Given the description of an element on the screen output the (x, y) to click on. 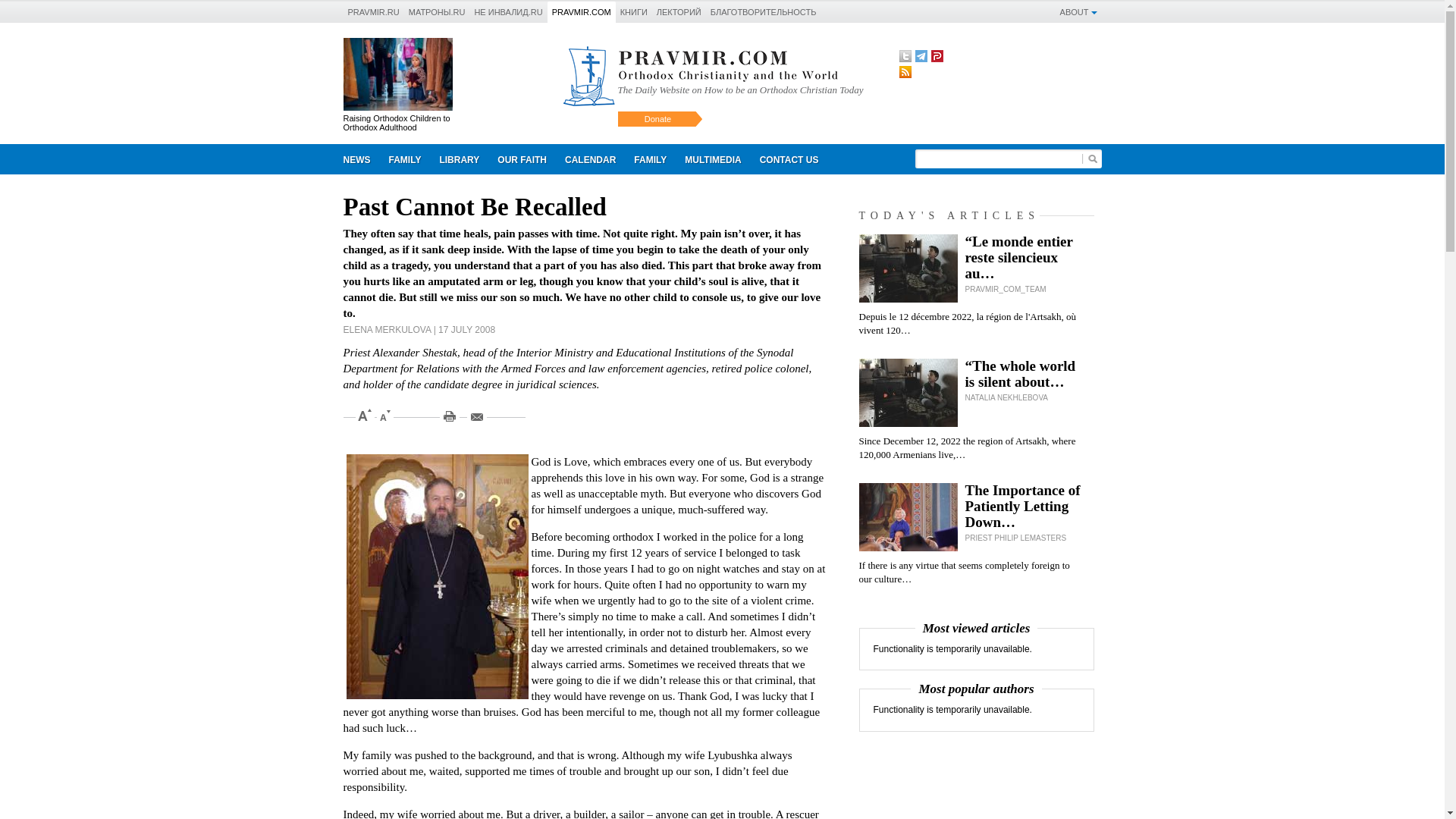
Parler (937, 55)
Telegram (920, 55)
NEWS (355, 161)
Parler (937, 55)
PRAVMIR.COM (581, 11)
Raising Orthodox Children to Orthodox Adulthood (395, 122)
ABOUT (1078, 11)
The Daily Website on How to be an Orthodox Christian Today (740, 89)
PRAVMIR.RU (372, 11)
Twitter (905, 55)
RSS (905, 71)
Twitter (905, 55)
Telegram (920, 55)
LIBRARY (458, 161)
FAMILY (403, 161)
